Given the description of an element on the screen output the (x, y) to click on. 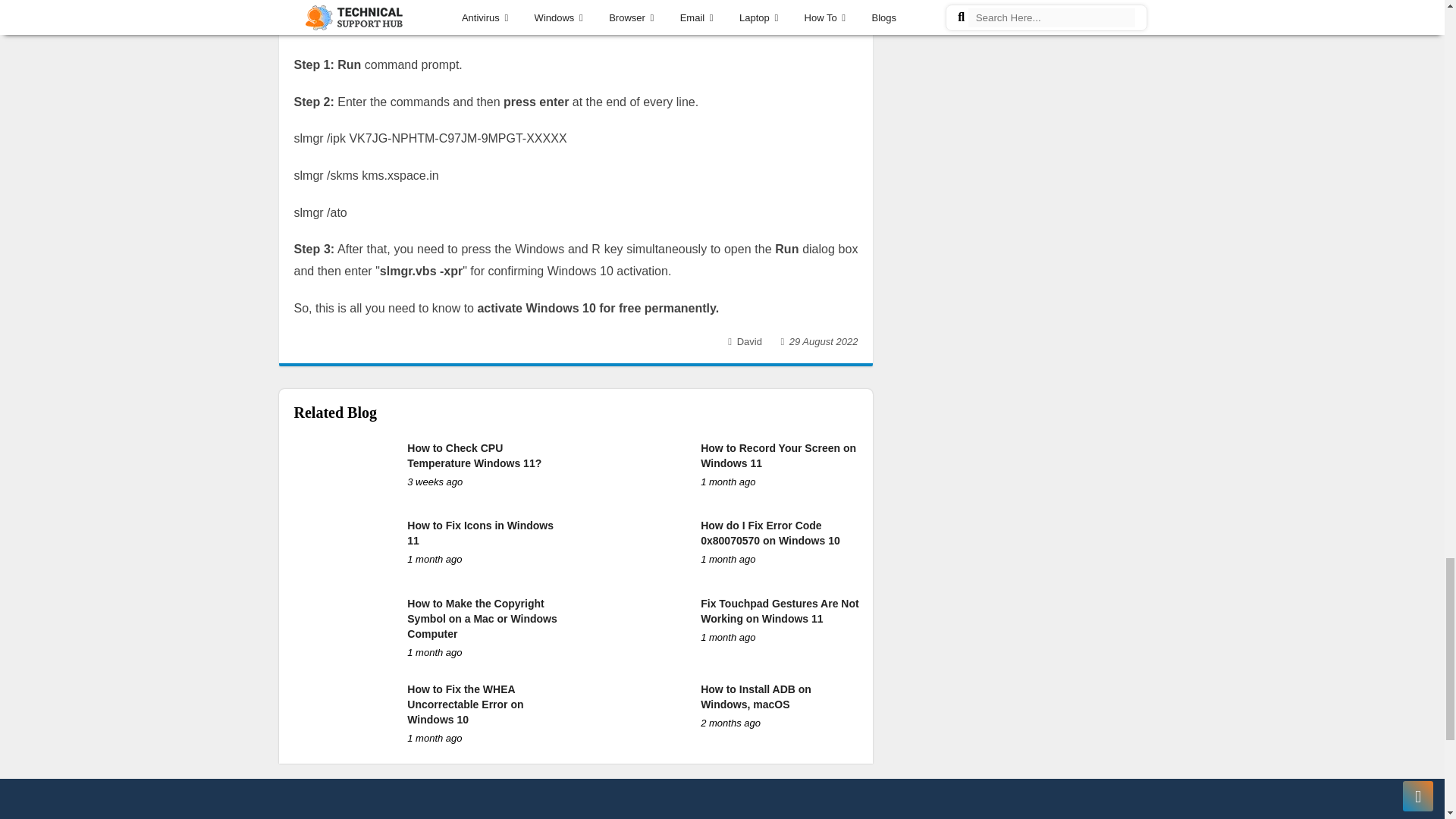
How do I Fix Error Code 0x80070570 on Windows 10 (770, 533)
How to Record Your Screen on Windows 11 (778, 455)
How to Check CPU Temperature Windows 11? (474, 455)
Fix Touchpad Gestures Are Not Working on Windows 11 (779, 610)
How to Fix Icons in Windows 11 (480, 533)
How to Fix the WHEA Uncorrectable Error on Windows 10 (464, 704)
How to Install ADB on Windows, macOS (755, 696)
